Given the description of an element on the screen output the (x, y) to click on. 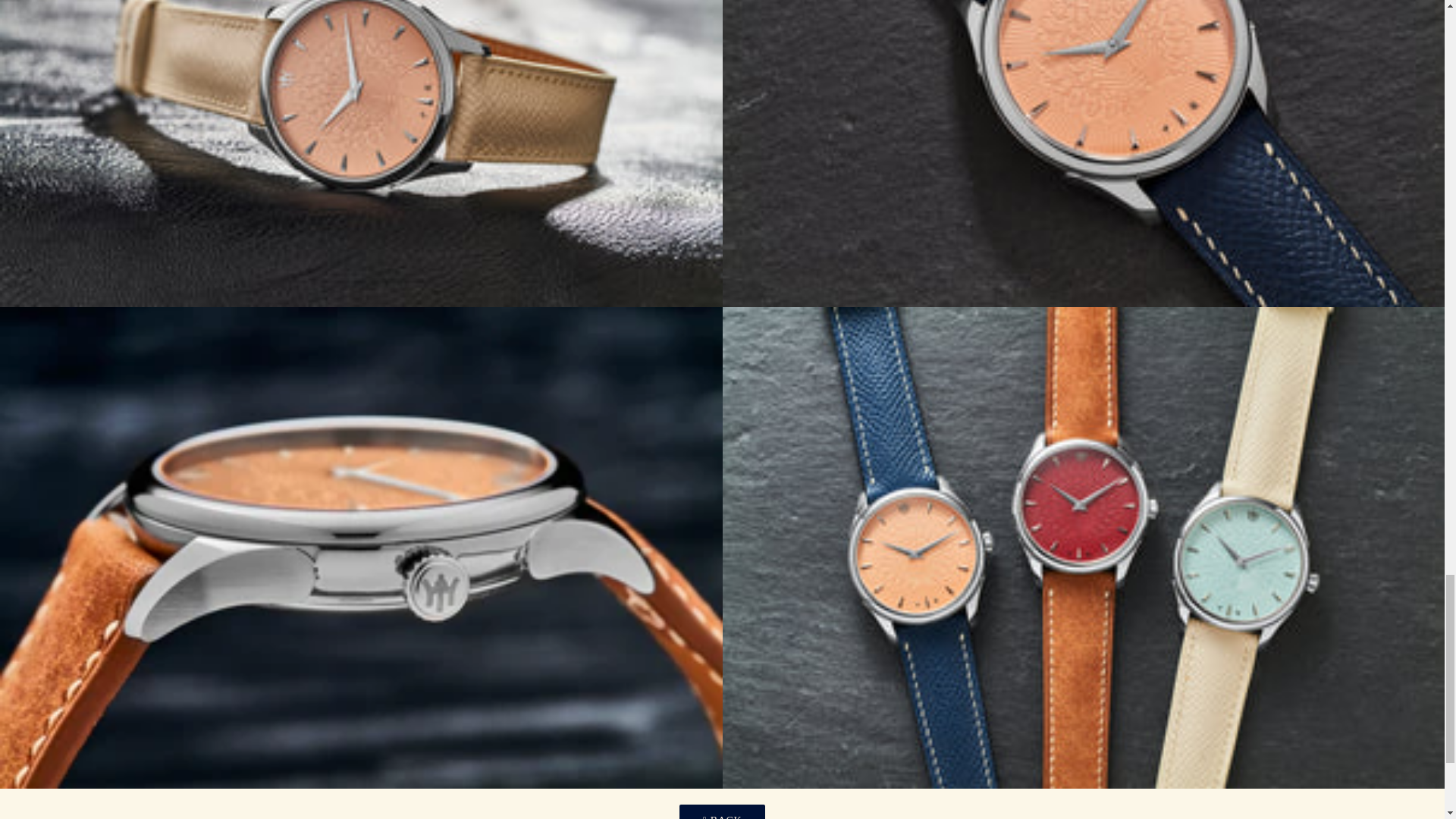
BACK (722, 811)
